Given the description of an element on the screen output the (x, y) to click on. 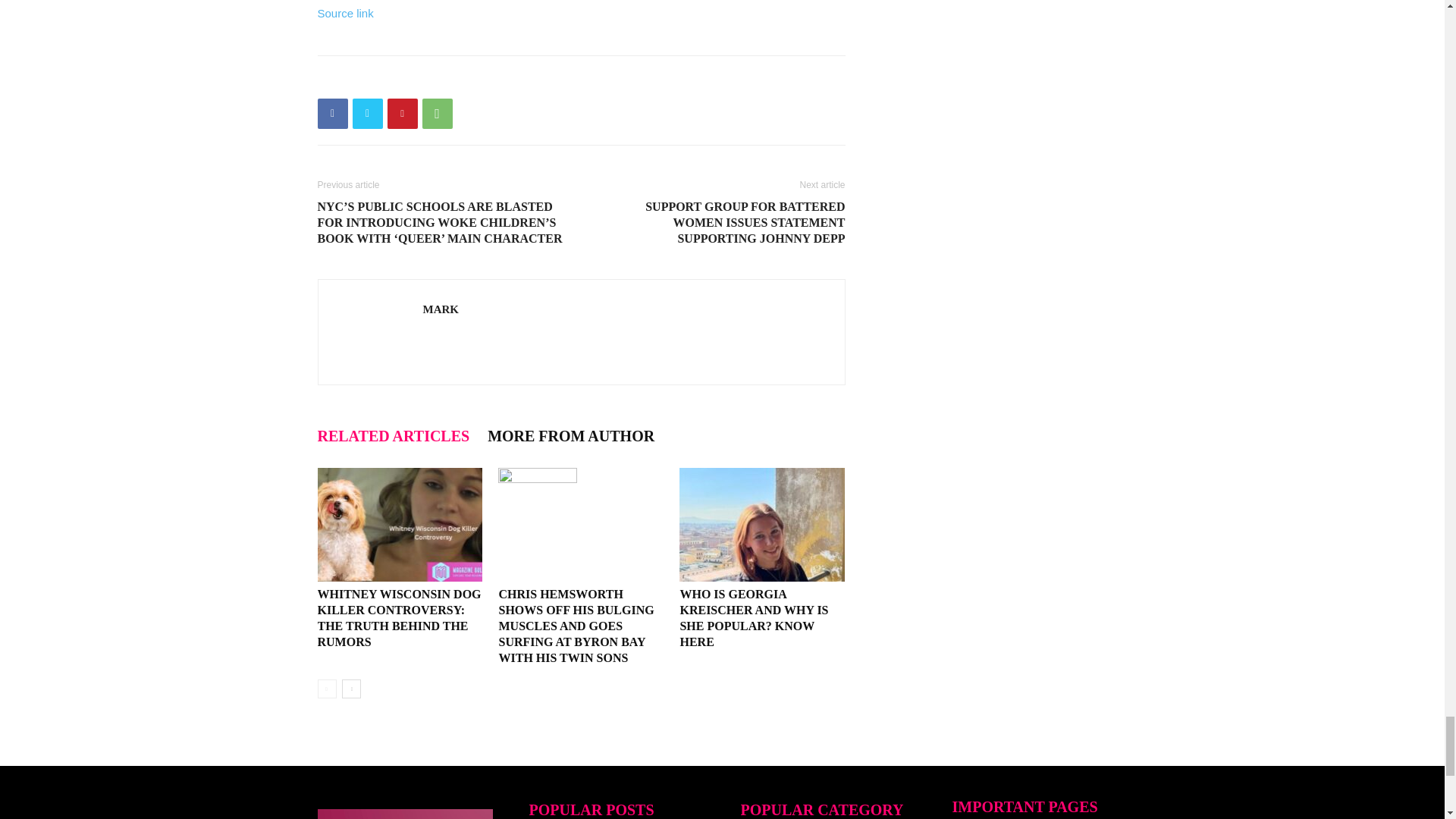
Facebook (332, 113)
